Given the description of an element on the screen output the (x, y) to click on. 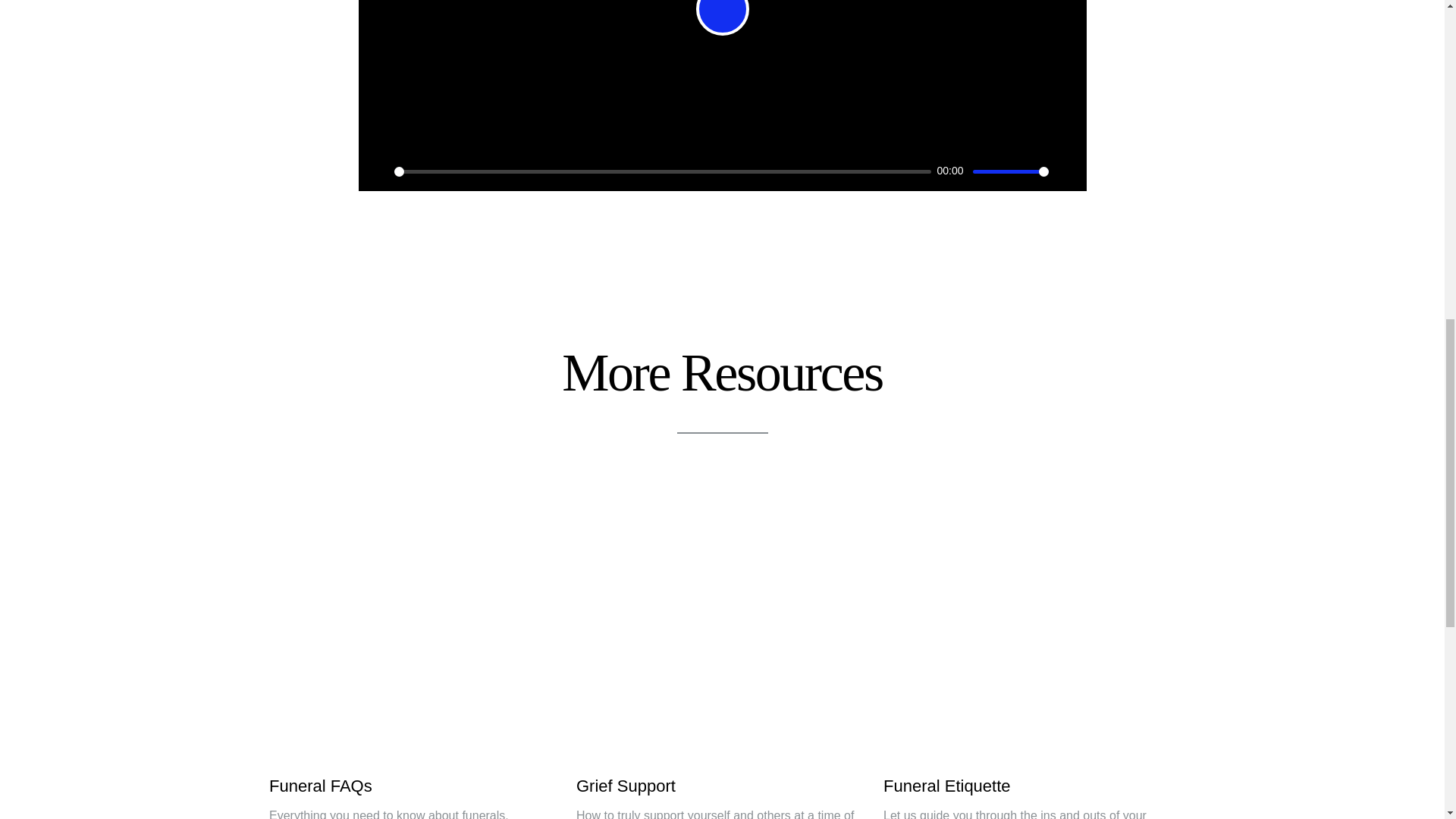
Play (722, 18)
0 (662, 171)
1 (1010, 171)
Enter fullscreen (1066, 170)
Play (377, 170)
